Given the description of an element on the screen output the (x, y) to click on. 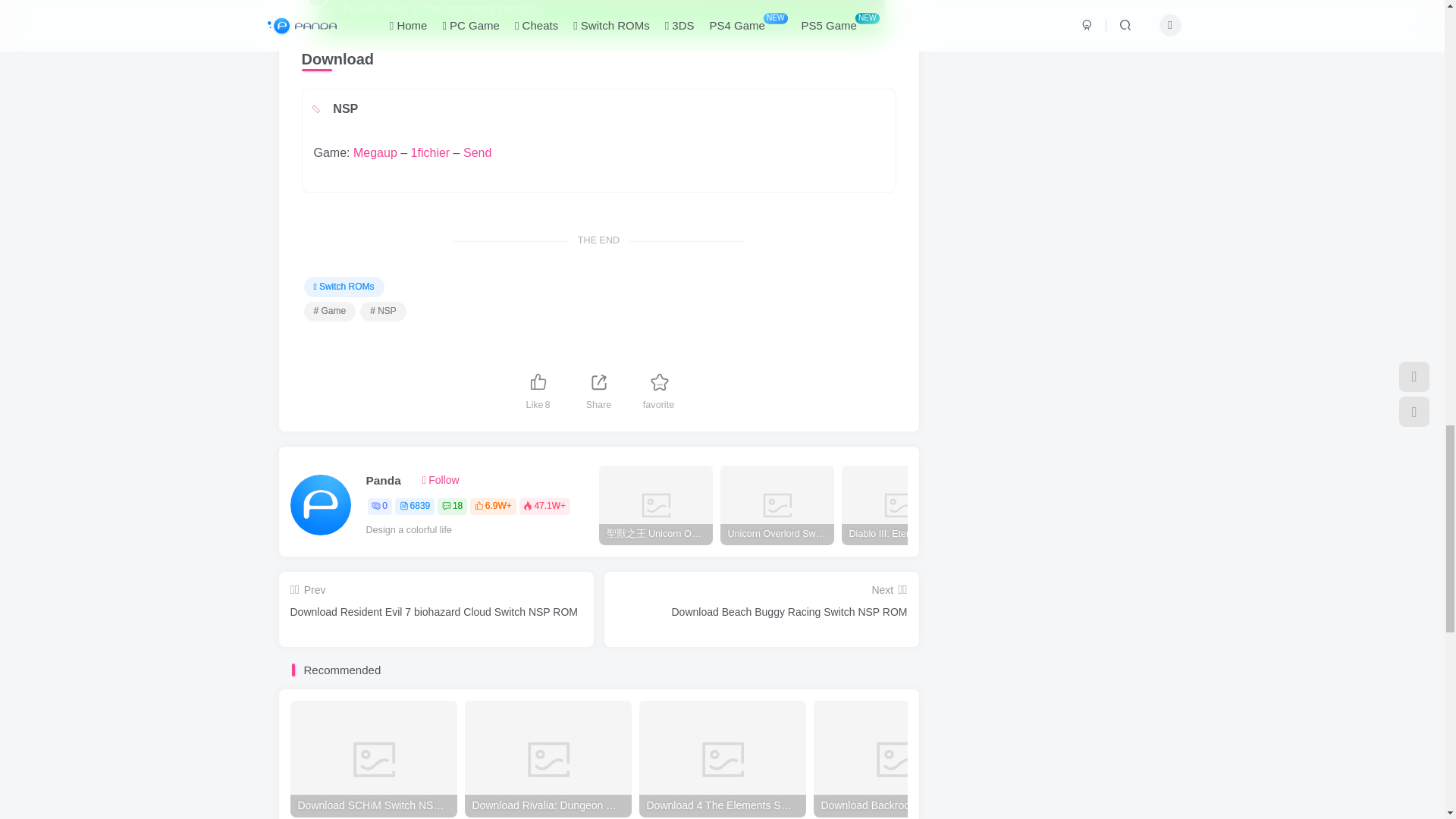
Megaup (375, 152)
1fichier (429, 152)
Check out this TAB for more articles (382, 311)
Switch ROMs (343, 286)
See more classified articles (343, 286)
Send (477, 152)
Check out this TAB for more articles (328, 311)
